Given the description of an element on the screen output the (x, y) to click on. 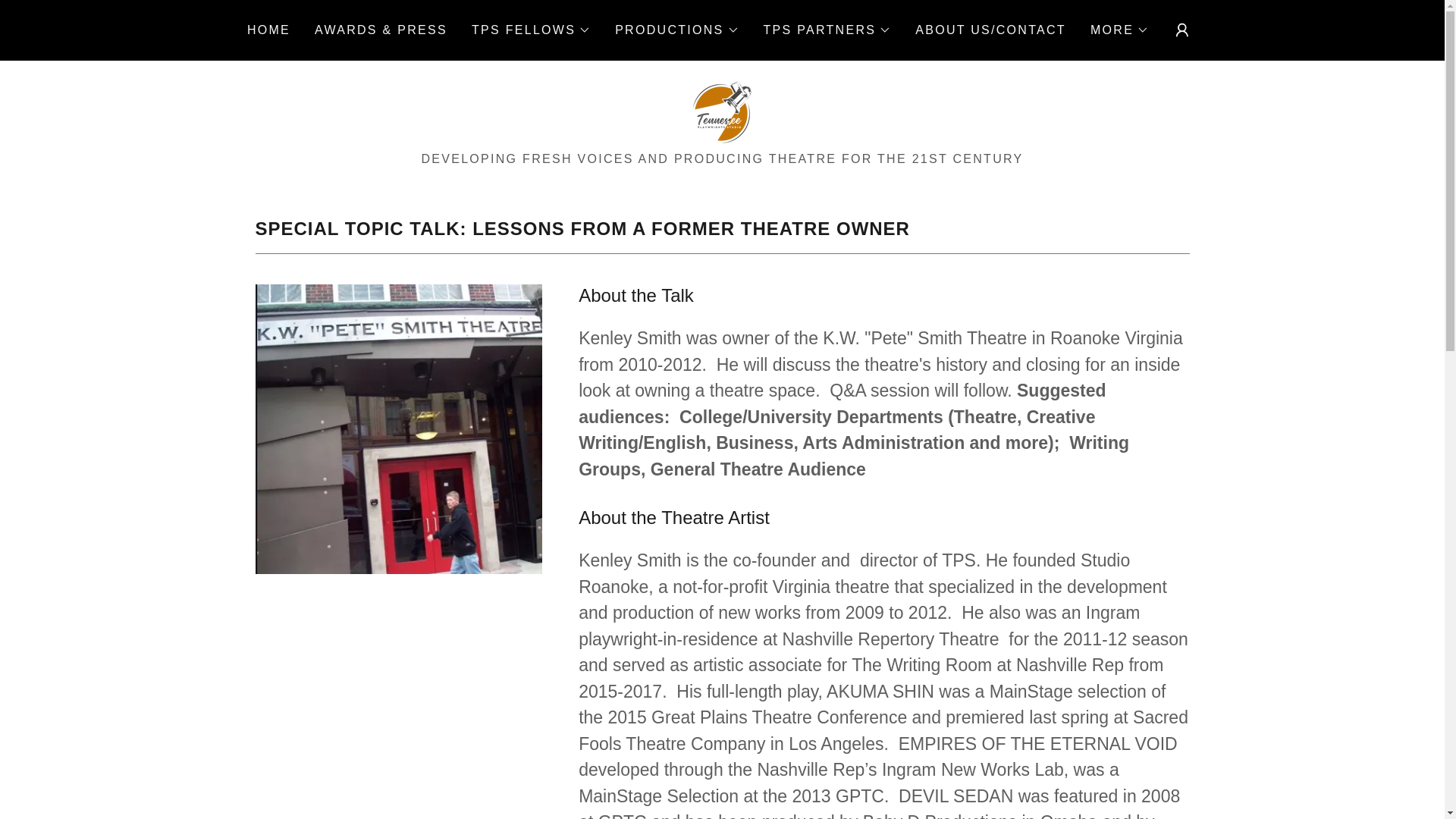
MORE (1119, 30)
TPS PARTNERS (826, 30)
TPS FELLOWS (531, 30)
HOME (269, 30)
PRODUCTIONS (676, 30)
Tennessee Playwrights Studio (721, 111)
